Given the description of an element on the screen output the (x, y) to click on. 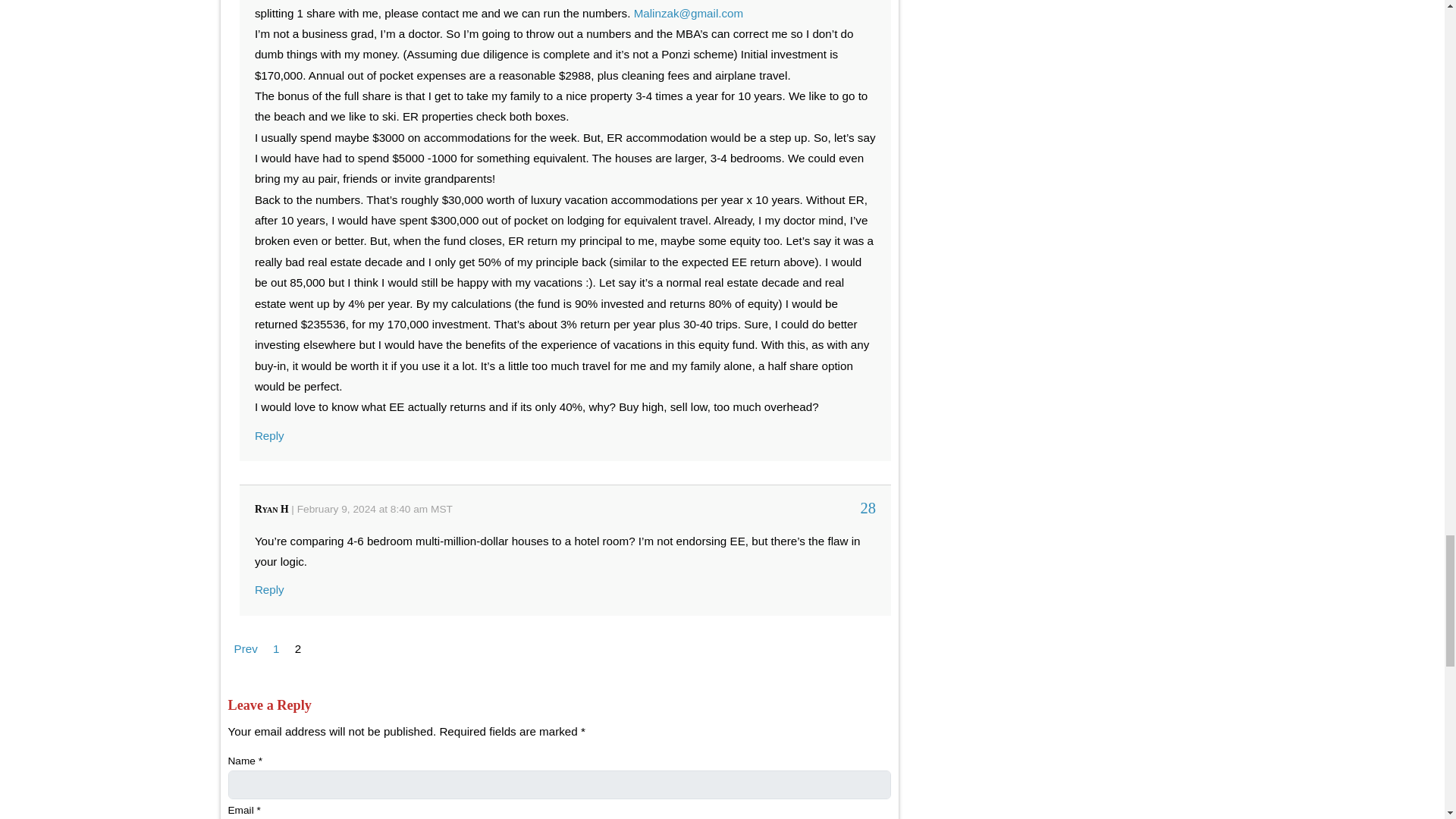
Mountain Standard Time (441, 509)
